Given the description of an element on the screen output the (x, y) to click on. 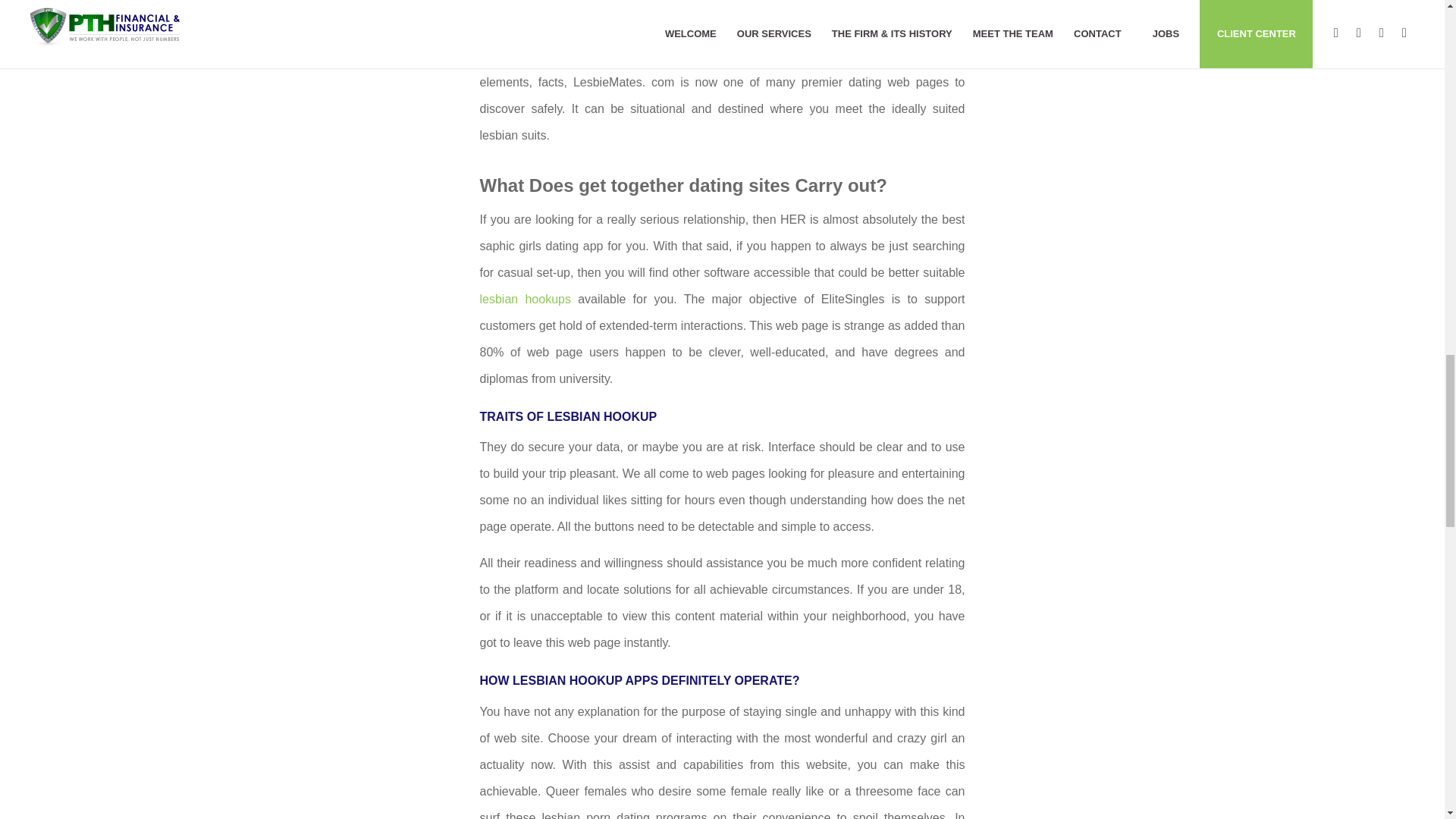
lesbian hookups (524, 298)
